Given the description of an element on the screen output the (x, y) to click on. 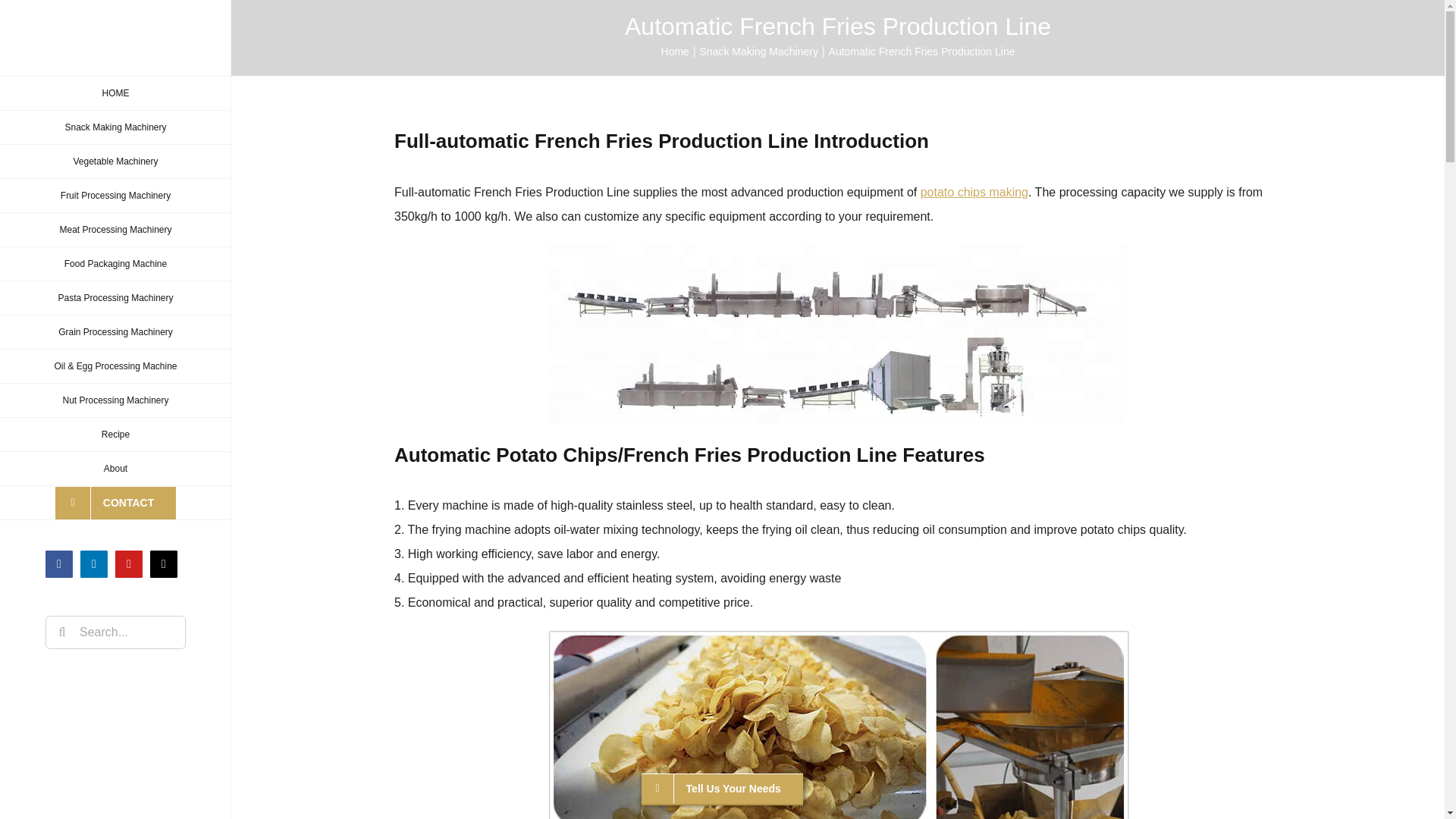
Email (163, 564)
Pasta Processing Machinery (115, 298)
LinkedIn (93, 564)
home (115, 93)
CONTACT (115, 503)
YouTube (128, 564)
Snack Making Machinery (115, 127)
Meat Processing Machinery (115, 229)
About (115, 469)
Facebook (58, 564)
Fruit Processing Machinery (115, 195)
Vegetable Machinery (115, 161)
Nut Processing Machinery (115, 400)
HOME (115, 93)
Grain Processing Machinery (115, 332)
